Given the description of an element on the screen output the (x, y) to click on. 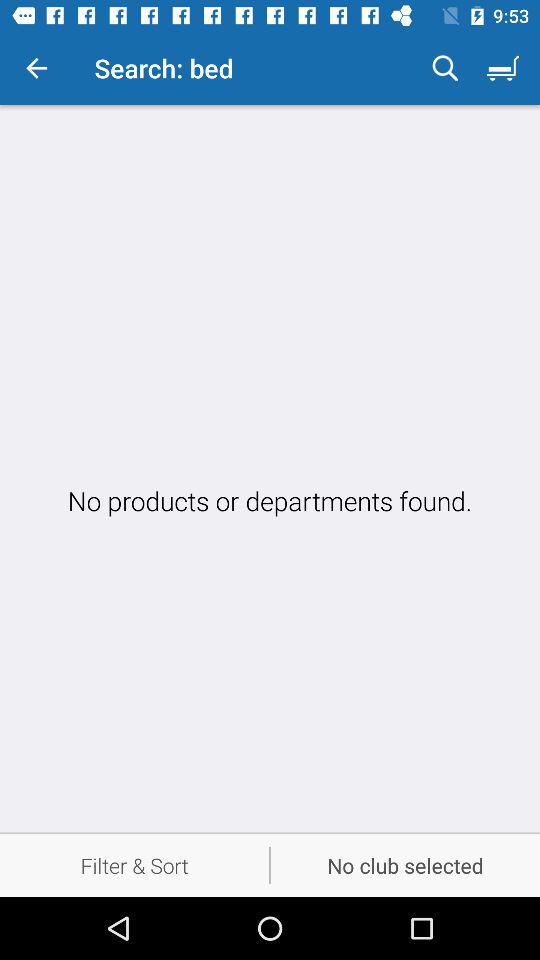
choose the item to the left of search: bed icon (36, 68)
